Given the description of an element on the screen output the (x, y) to click on. 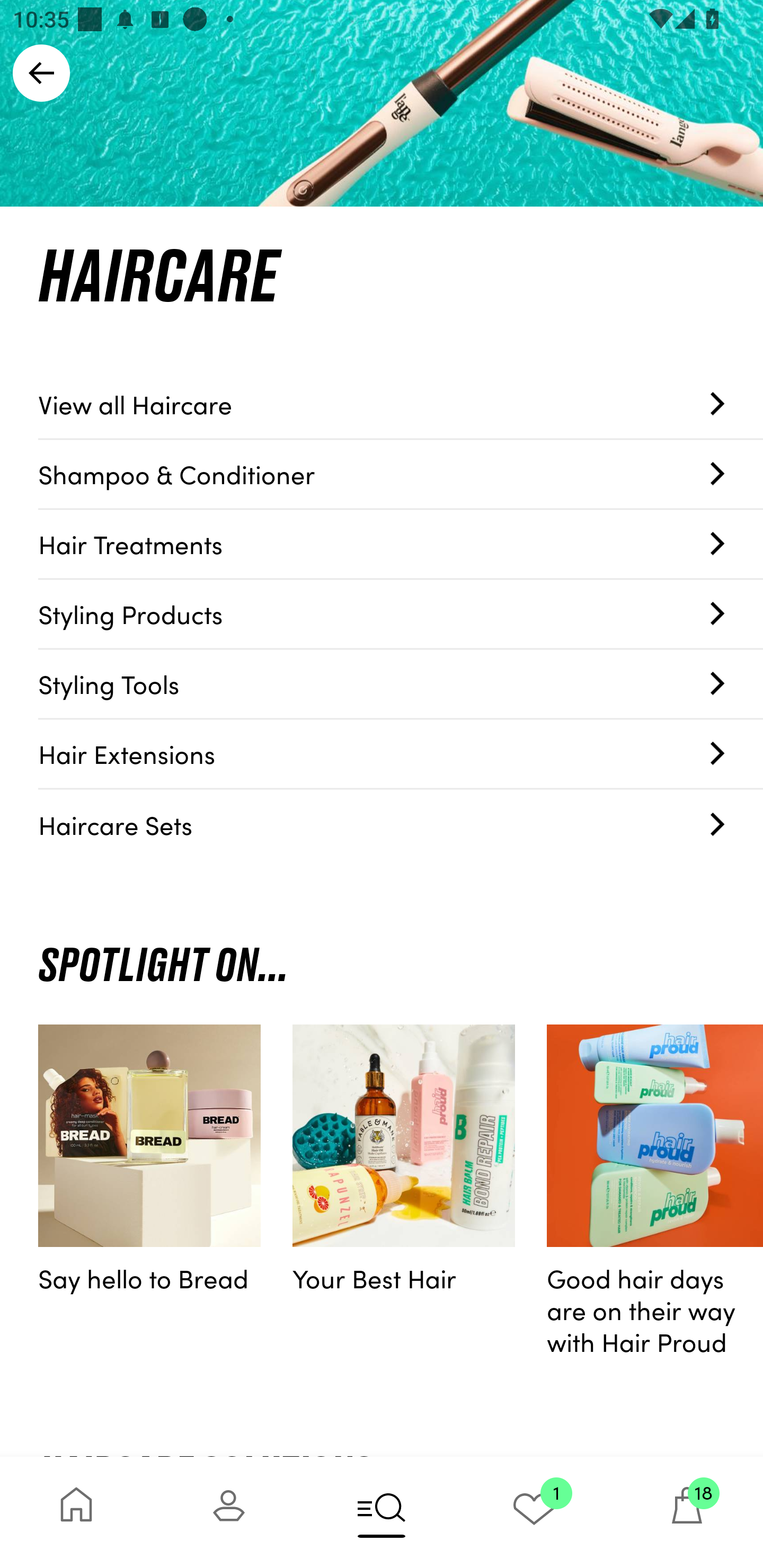
View all Haircare (400, 404)
Shampoo & Conditioner (400, 474)
Hair Treatments (400, 544)
Styling Products (400, 614)
Styling Tools (400, 684)
Hair Extensions (400, 753)
Haircare Sets (400, 823)
Say hello to Bread (149, 1195)
Your Best Hair (403, 1195)
Good hair days are on their way with Hair Proud (655, 1195)
1 (533, 1512)
18 (686, 1512)
